Given the description of an element on the screen output the (x, y) to click on. 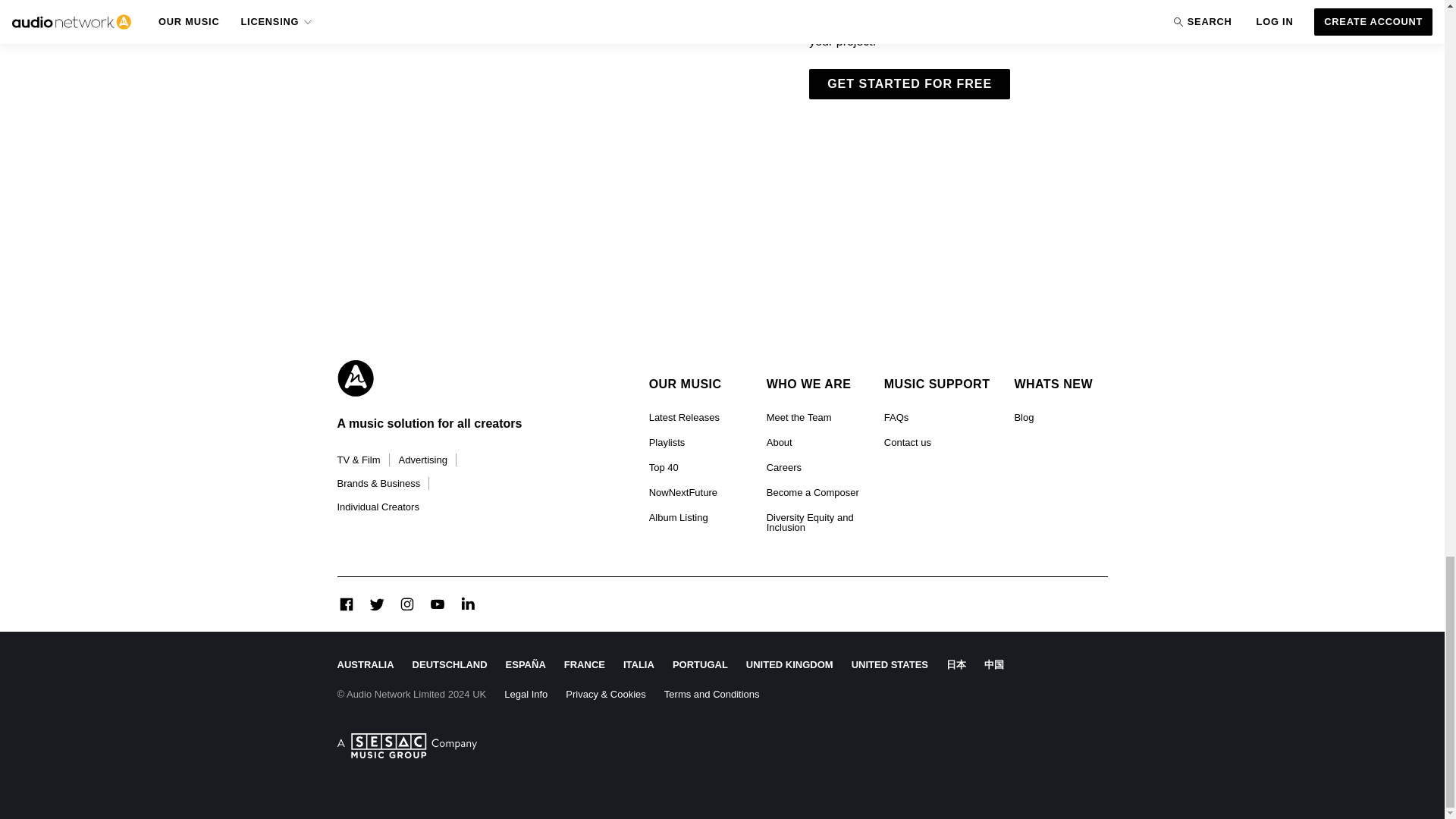
WHO WE ARE (813, 384)
Instagram (405, 604)
About (779, 442)
Latest Releases (684, 416)
Become a Composer (813, 492)
Album Listing (678, 517)
YouTube (436, 604)
Customer reviews powered by Trustpilot (992, 604)
Twitter (375, 604)
Careers (784, 466)
